Given the description of an element on the screen output the (x, y) to click on. 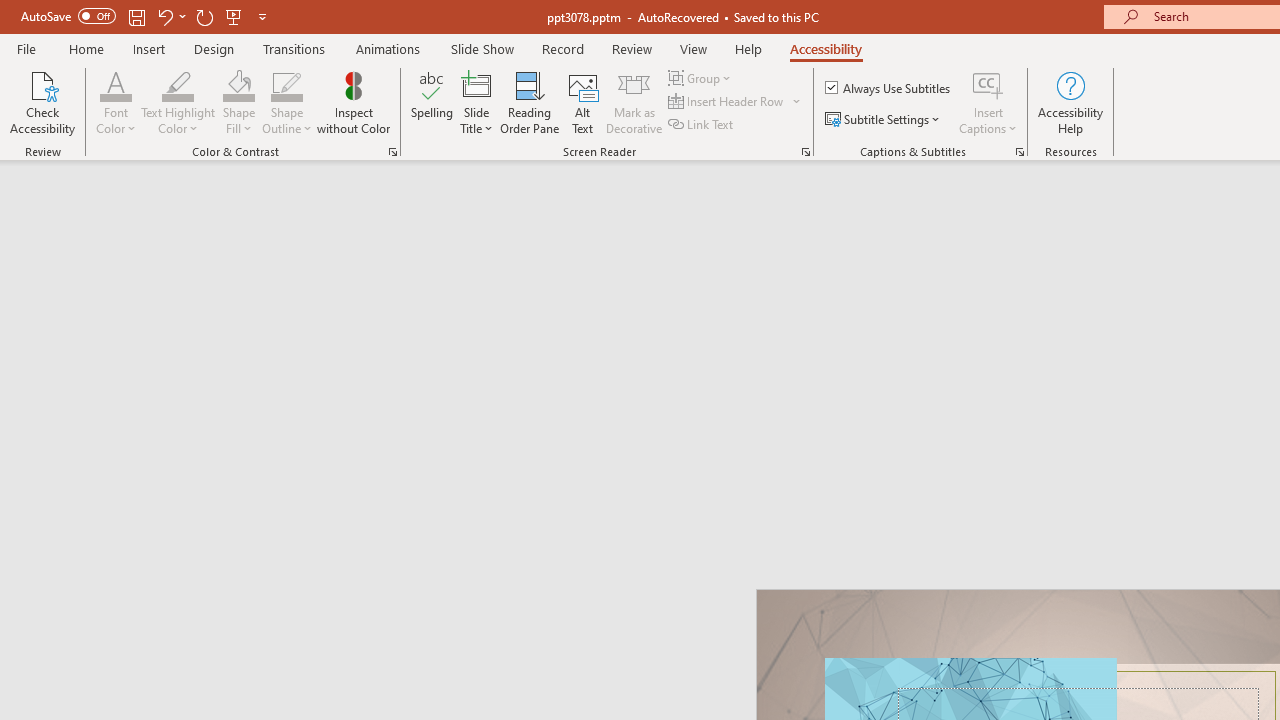
Inspect without Color (353, 102)
Reading Order Pane (529, 102)
Mark as Decorative (634, 102)
Captions & Subtitles (1019, 151)
Color & Contrast (392, 151)
Screen Reader (805, 151)
Always Use Subtitles (889, 87)
